Given the description of an element on the screen output the (x, y) to click on. 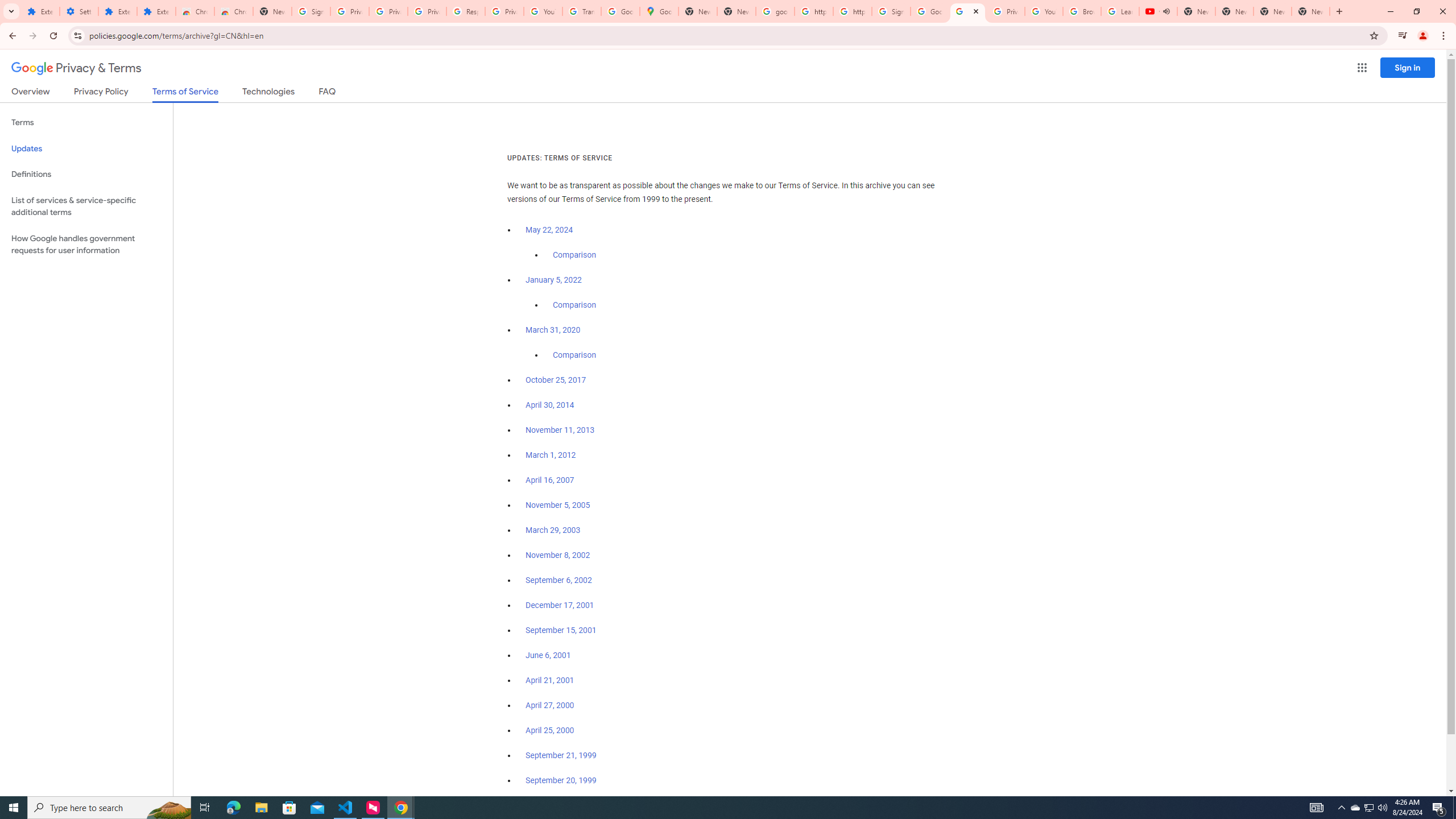
November 8, 2002 (557, 555)
November 5, 2005 (557, 505)
Extensions (40, 11)
May 22, 2024 (549, 230)
List of services & service-specific additional terms (86, 206)
